Given the description of an element on the screen output the (x, y) to click on. 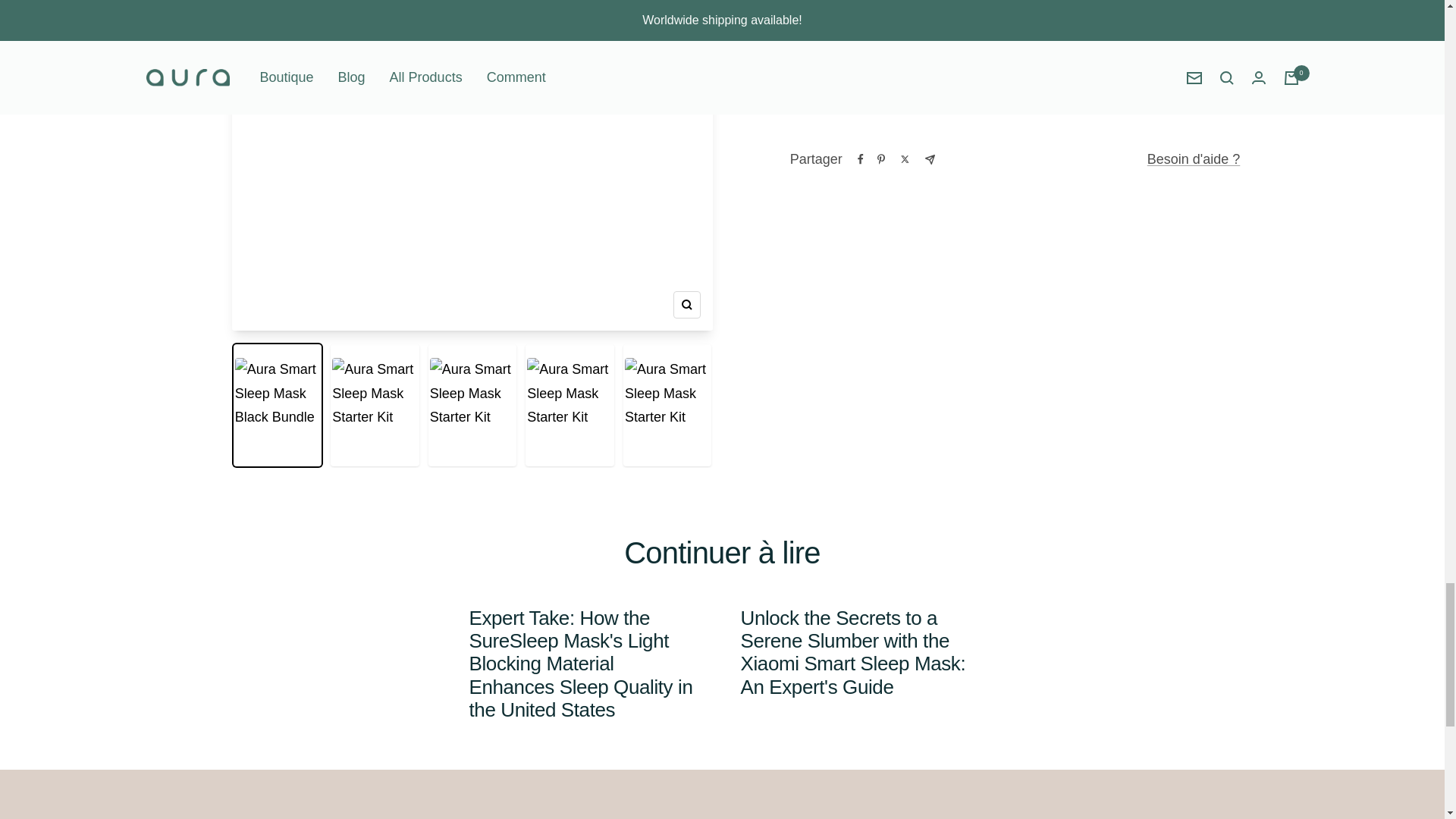
1 (845, 16)
Zoom (686, 304)
